Given the description of an element on the screen output the (x, y) to click on. 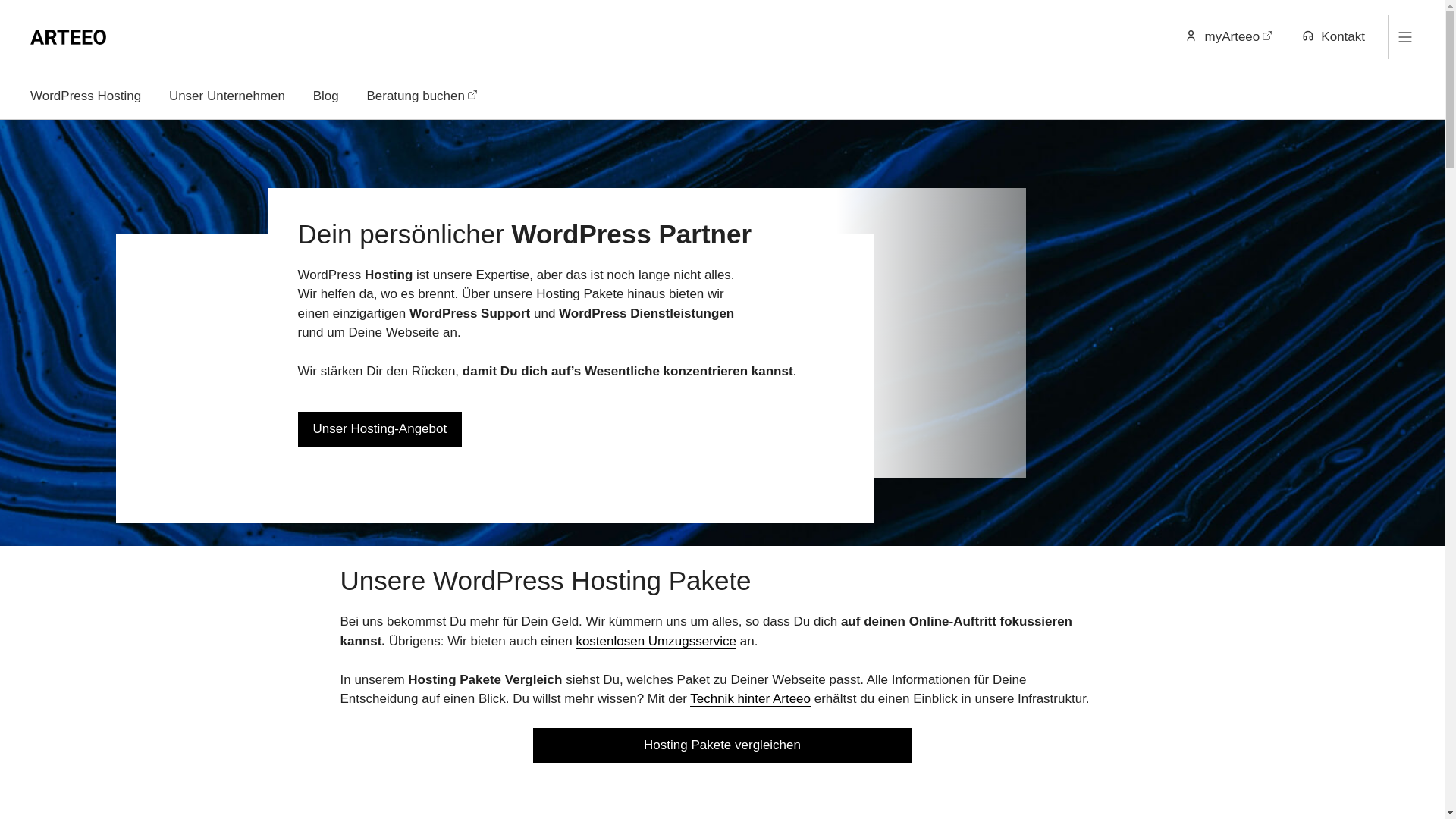
Hosting Pakete vergleichen Element type: text (722, 745)
Beratung buchen Element type: text (421, 96)
WordPress Hosting Element type: text (91, 96)
kostenlosen Umzugsservice Element type: text (655, 641)
Blog Element type: text (326, 96)
Unser Unternehmen Element type: text (226, 96)
myArteeo Element type: text (1228, 37)
Unser Hosting-Angebot Element type: text (379, 429)
Technik hinter Arteeo Element type: text (750, 698)
Kontakt Element type: text (1327, 37)
